Given the description of an element on the screen output the (x, y) to click on. 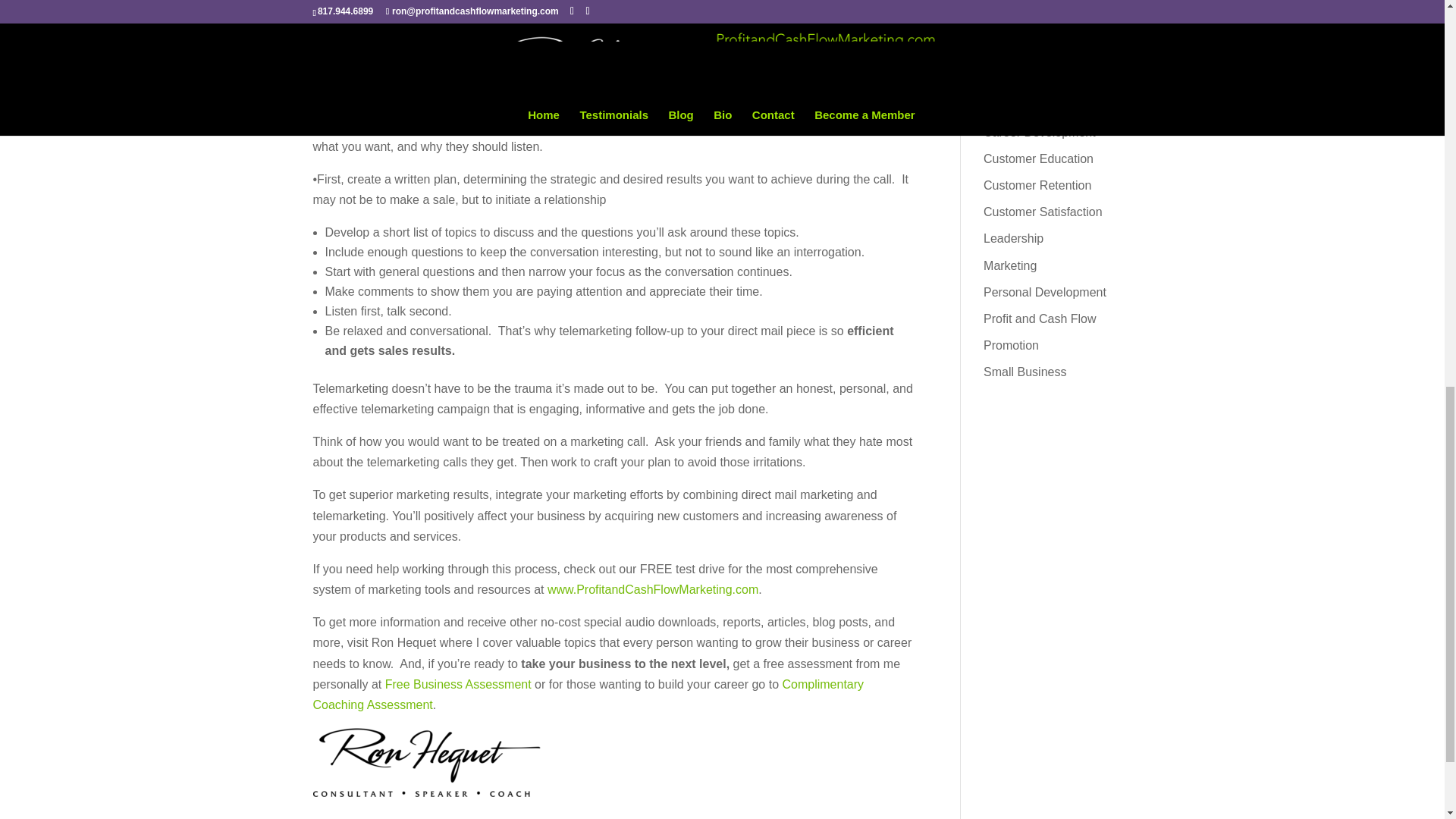
February 2017 (1023, 13)
Business Planning (1033, 104)
Career Development (1040, 132)
Free Business Assessment (458, 684)
Business Development (1046, 78)
Customer Education (1038, 158)
Complimentary Coaching Assessment (588, 694)
www.ProfitandCashFlowMarketing.com (652, 589)
